Given the description of an element on the screen output the (x, y) to click on. 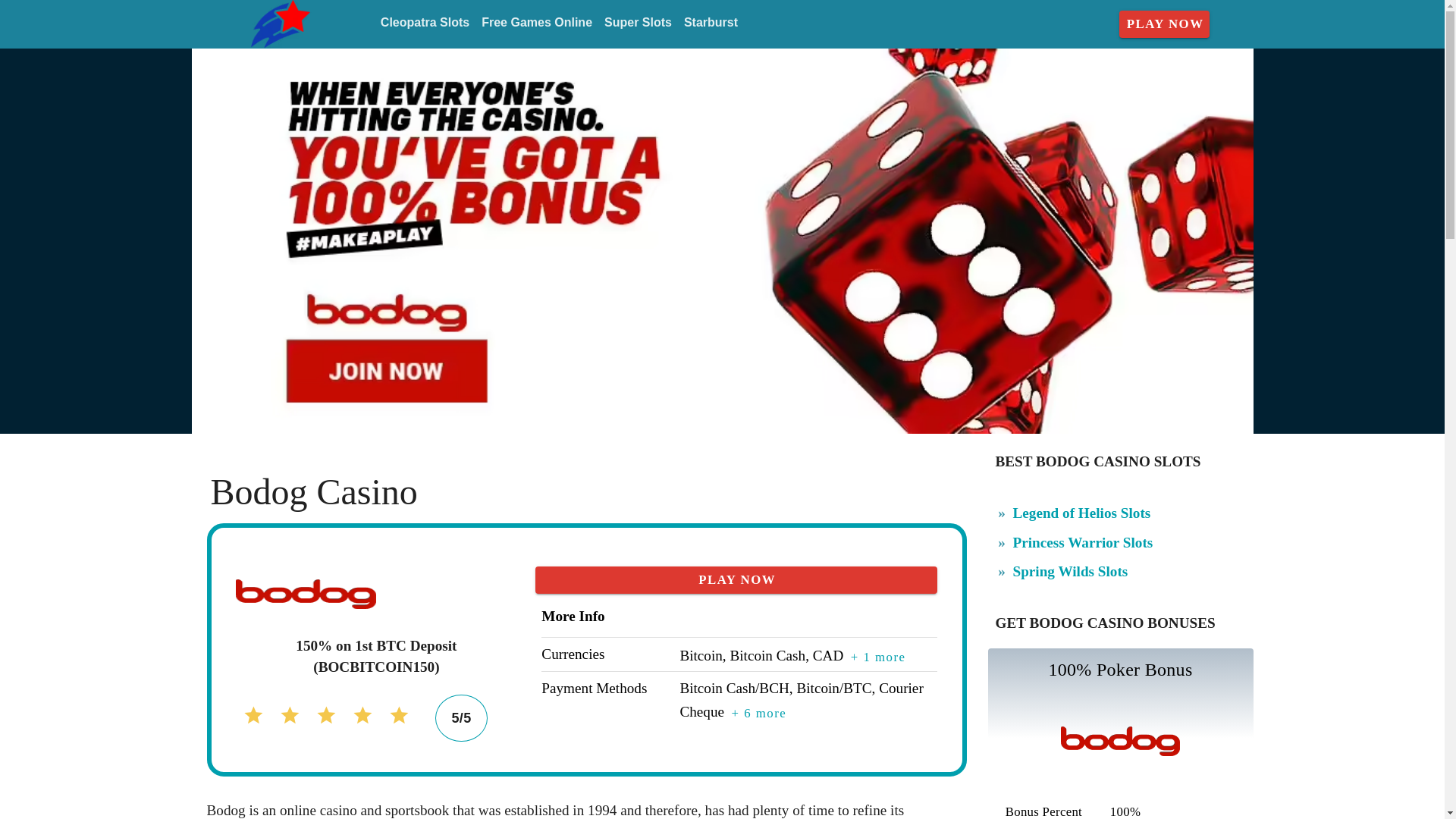
Princess Warrior Slots (1083, 542)
Super Slots (638, 22)
Legend of Helios Slots (1082, 512)
Starburst (711, 22)
Spring Wilds Slots (1070, 571)
Cleopatra Slots (425, 22)
PLAY NOW (1164, 23)
PLAY NOW (736, 579)
Free Games Online (537, 22)
